Given the description of an element on the screen output the (x, y) to click on. 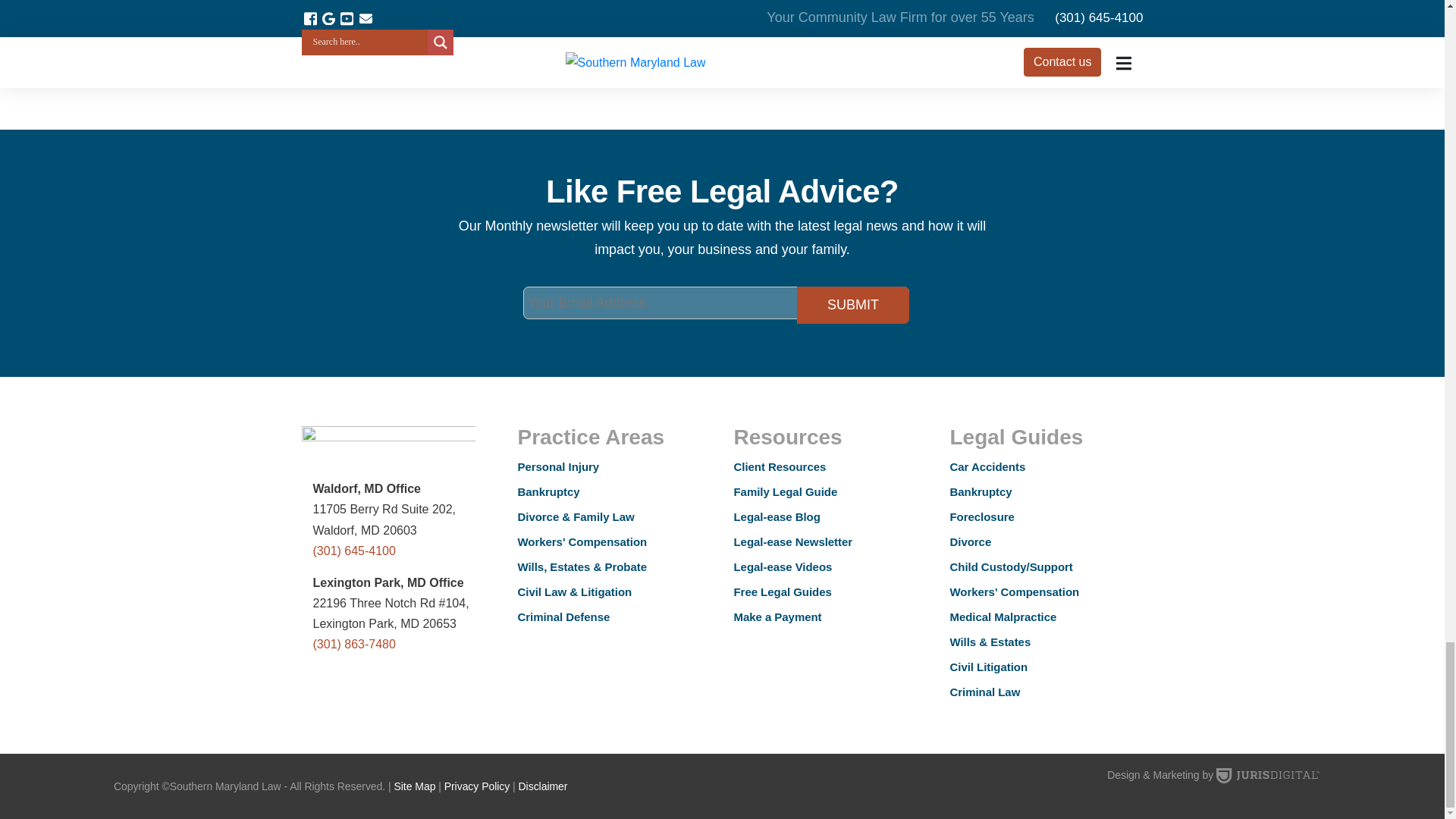
Submit (852, 304)
